Given the description of an element on the screen output the (x, y) to click on. 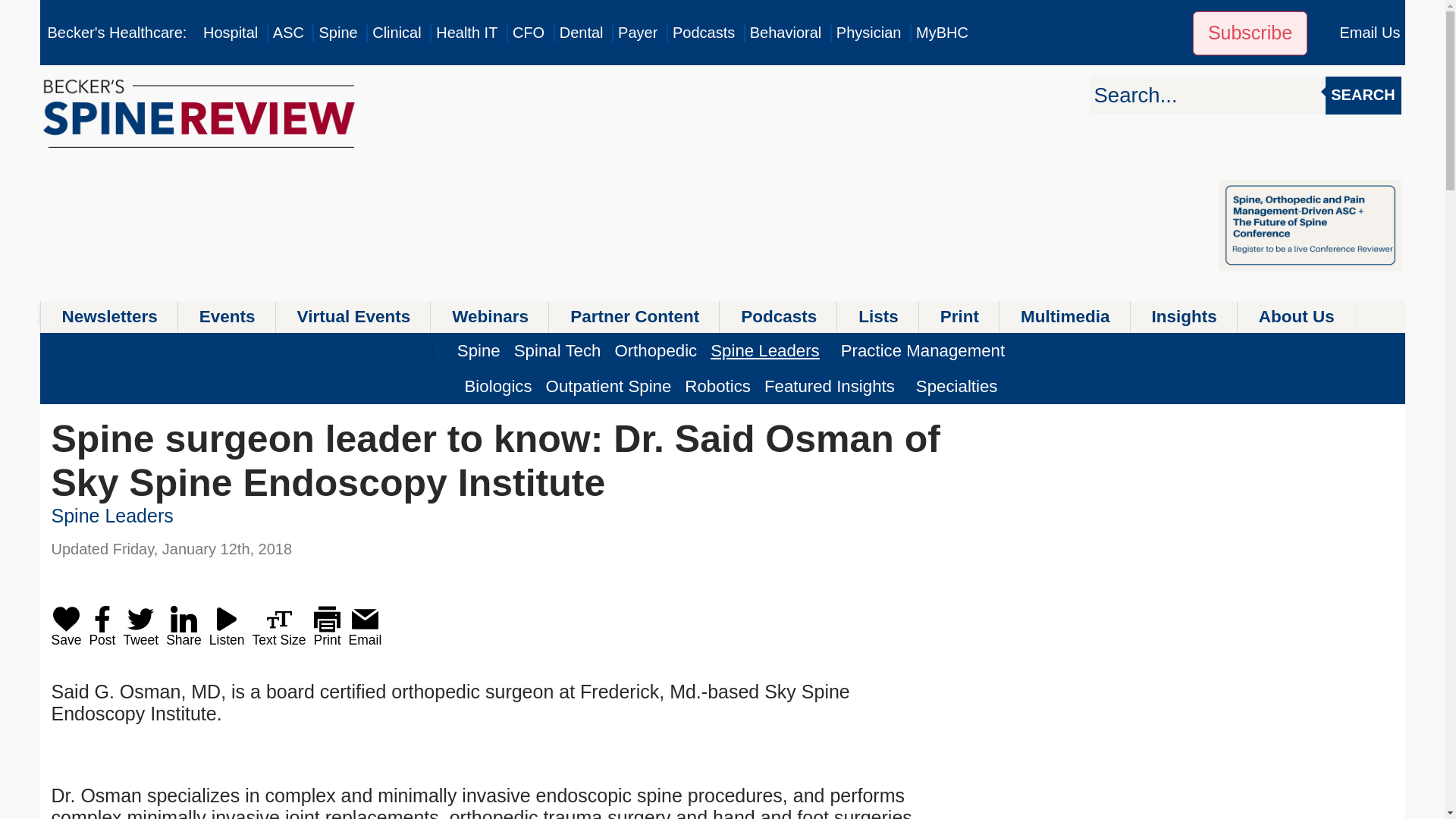
Health IT (466, 32)
Spine (337, 32)
Becker's Health IT (466, 32)
Physician (868, 32)
MyBHC (941, 32)
Subscribe (1249, 33)
Becker's Behavioral Health (785, 32)
ASC (288, 32)
Becker's Hospital Review (230, 32)
SEARCH (1362, 95)
Dental (581, 32)
MyBHC (941, 32)
Hospital (230, 32)
Becker's Payer Issues (637, 32)
Physician (868, 32)
